Given the description of an element on the screen output the (x, y) to click on. 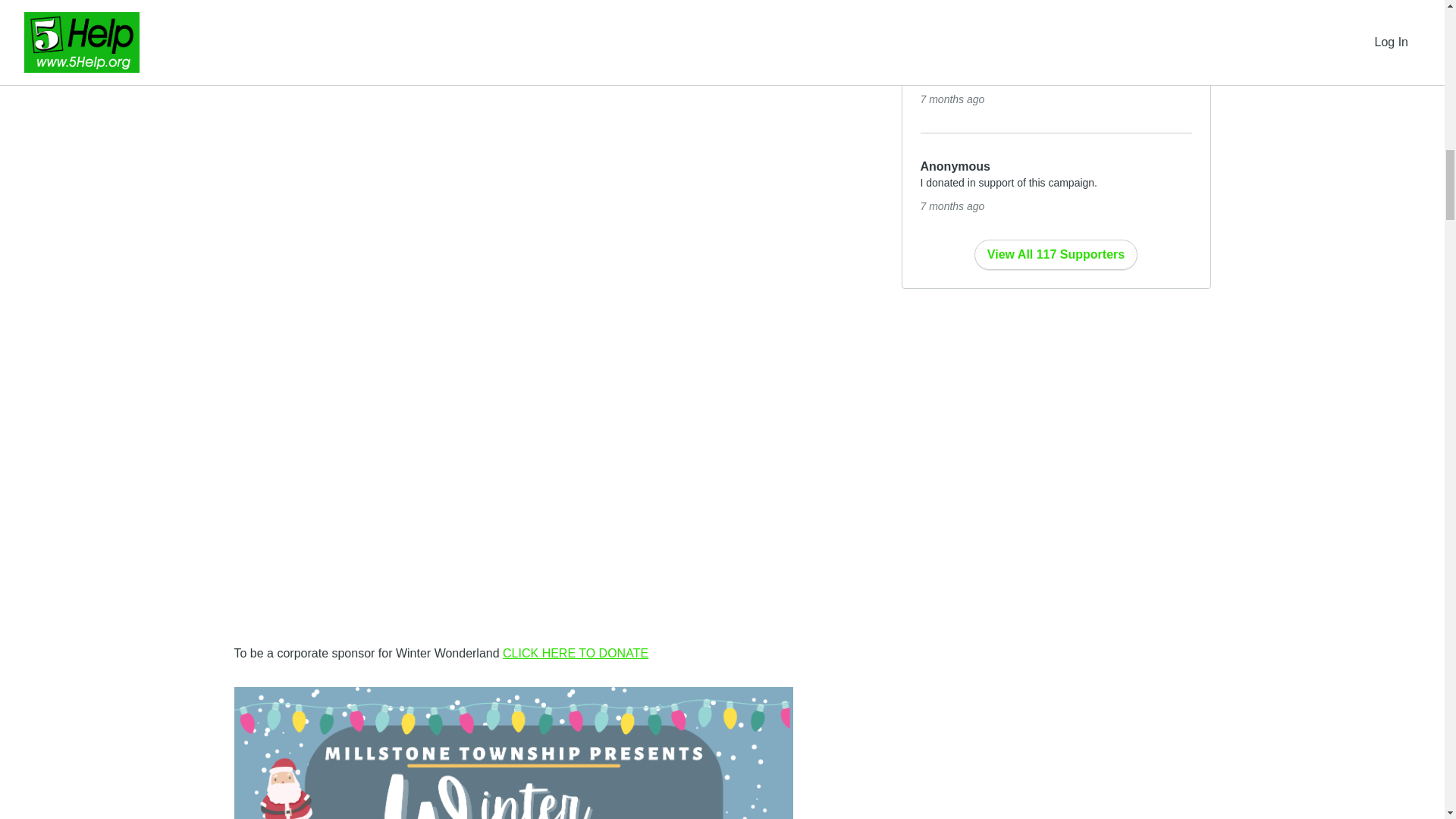
CLICK HERE TO DONATE (574, 653)
View All 117 Supporters (1055, 254)
